Given the description of an element on the screen output the (x, y) to click on. 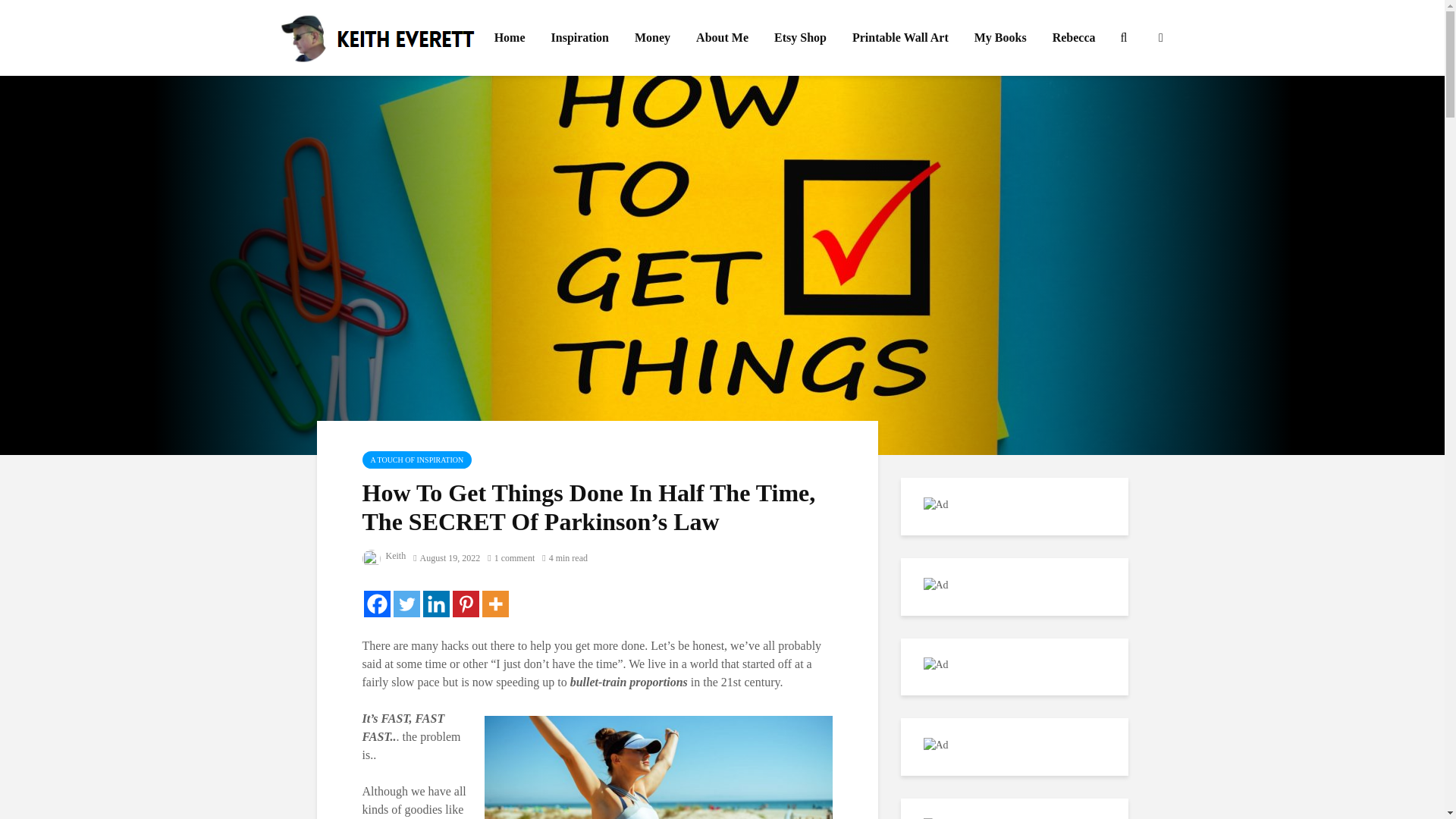
Printable Wall Art (900, 37)
Pinterest (465, 603)
More (494, 603)
Money (652, 37)
About Me (722, 37)
Linkedin (436, 603)
Facebook (377, 603)
My Books (1000, 37)
Inspiration (580, 37)
Home (510, 37)
